Given the description of an element on the screen output the (x, y) to click on. 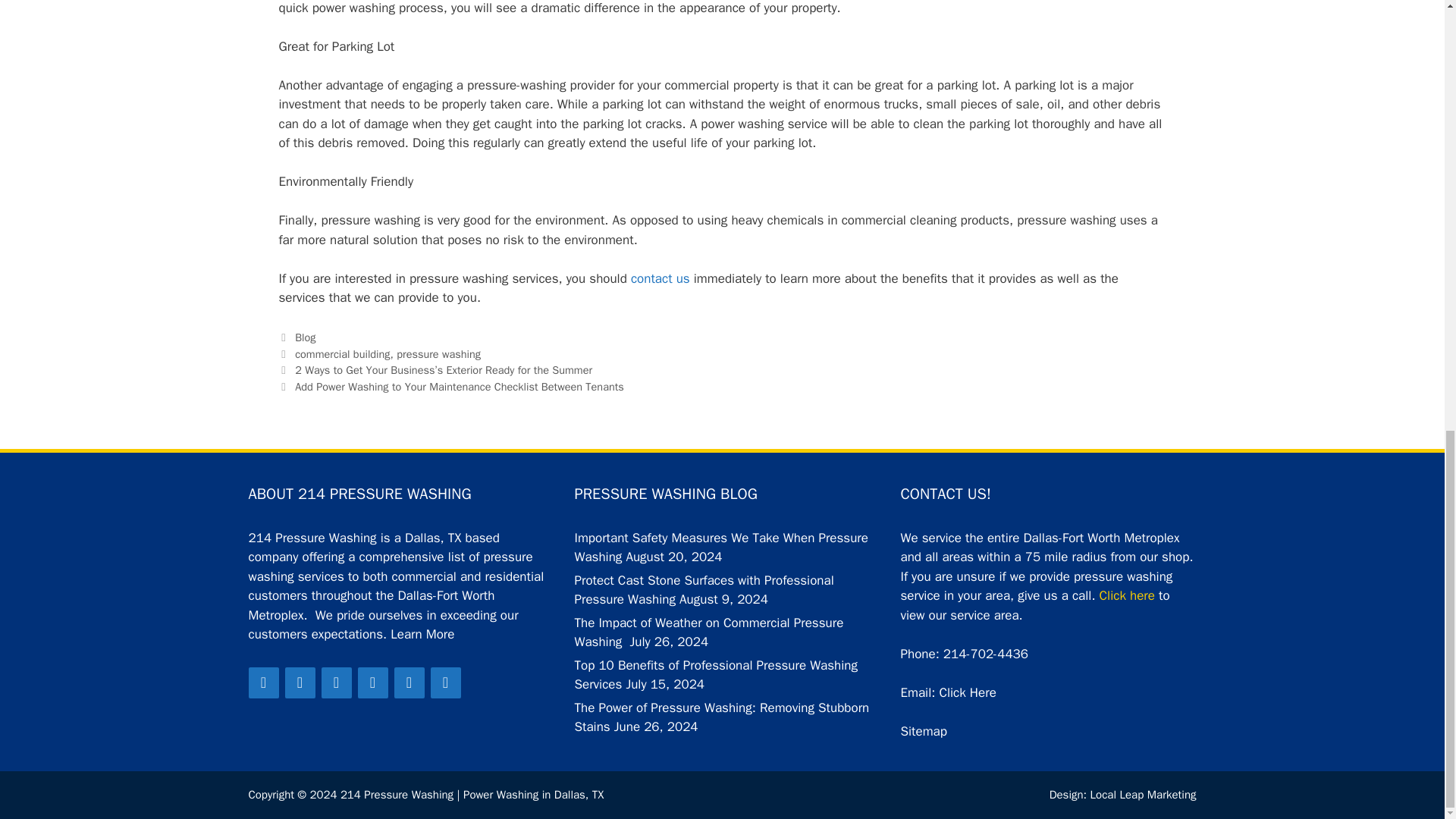
Next (451, 386)
commercial building (342, 354)
contact us (660, 278)
pressure washing (438, 354)
Previous (435, 369)
Blog (305, 336)
Learn More (422, 634)
